Given the description of an element on the screen output the (x, y) to click on. 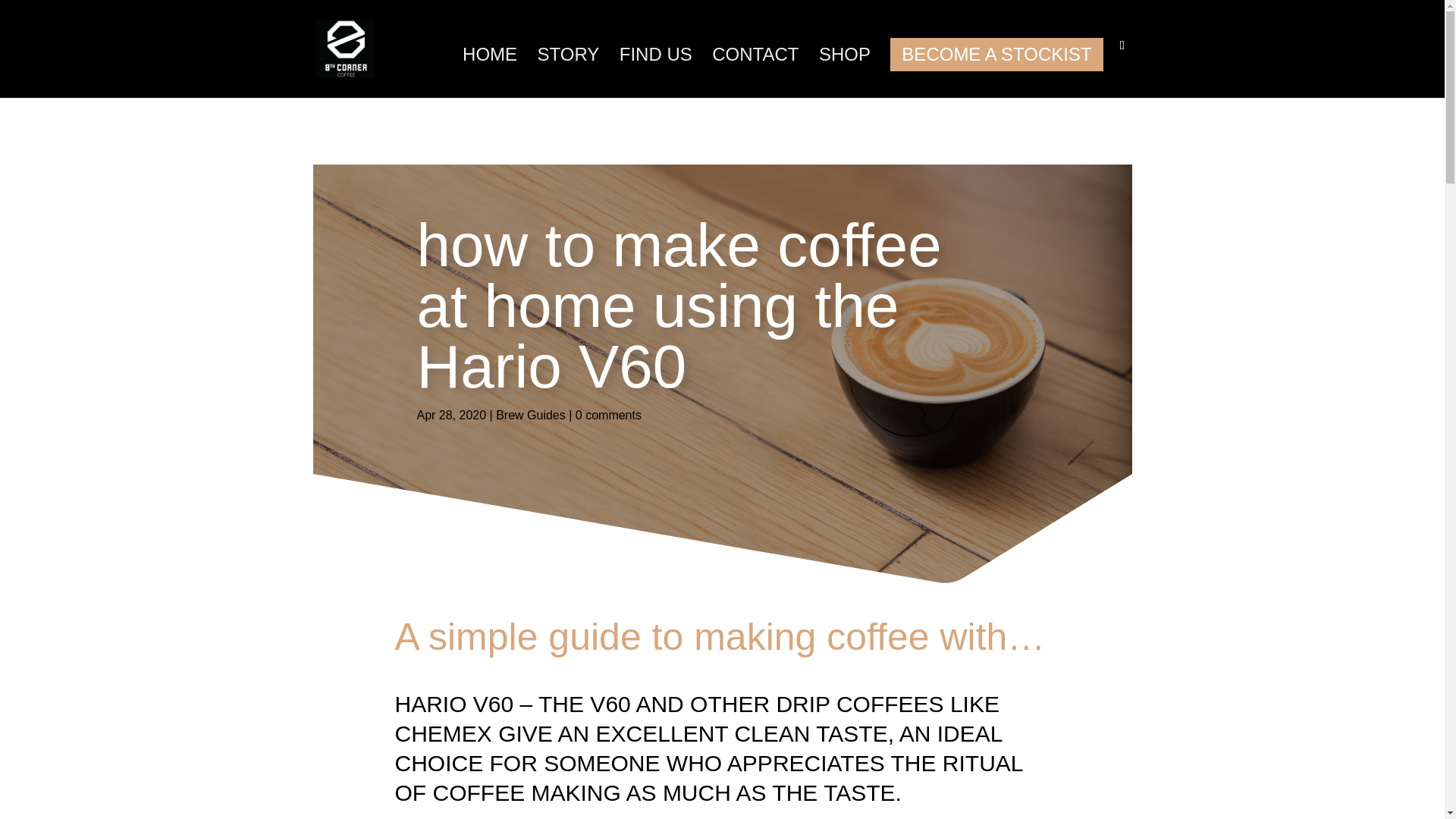
CONTACT (754, 73)
HOME (489, 73)
STORY (567, 73)
SHOP (844, 73)
FIND US (656, 73)
Brew Guides (531, 414)
BECOME A STOCKIST (995, 54)
0 comments (608, 414)
